Given the description of an element on the screen output the (x, y) to click on. 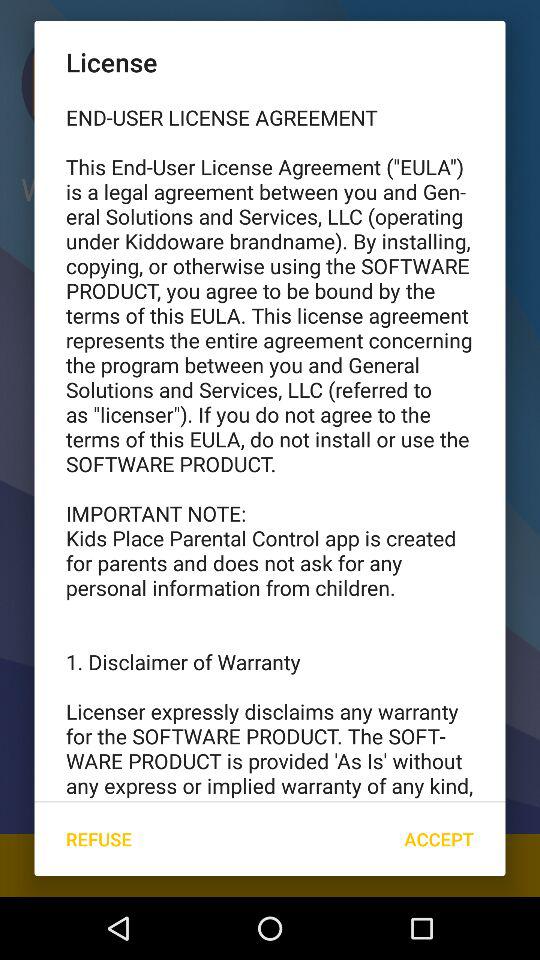
launch icon below end user license (438, 838)
